Given the description of an element on the screen output the (x, y) to click on. 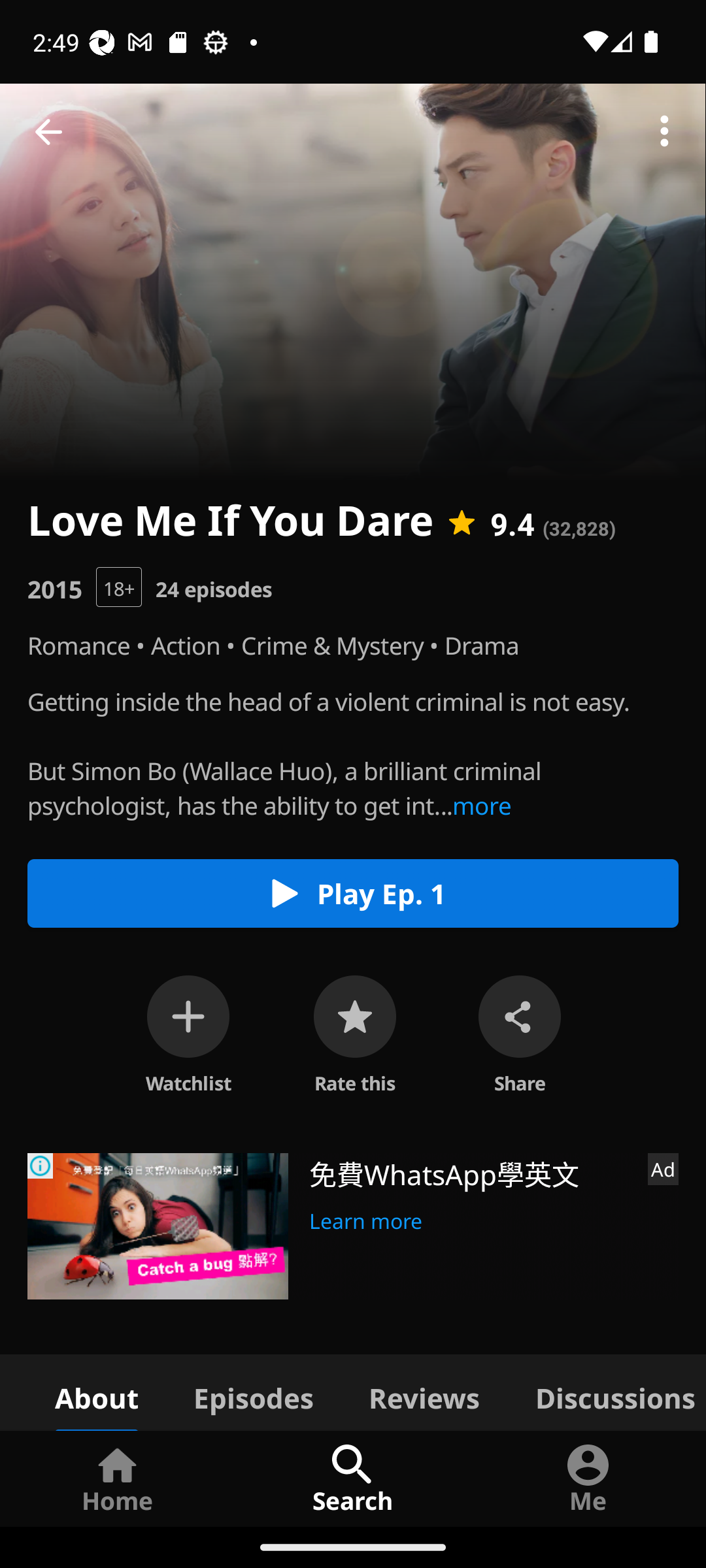
More (664, 131)
off (187, 1016)
免費WhatsApp學英文 Ad Learn more Ad Choices Icon (352, 1225)
Ad Choices Icon (39, 1165)
免費WhatsApp學英文 (471, 1172)
Learn more (365, 1218)
Episodes (252, 1392)
Reviews (423, 1392)
Discussions (606, 1392)
Home (117, 1478)
Me (588, 1478)
